Given the description of an element on the screen output the (x, y) to click on. 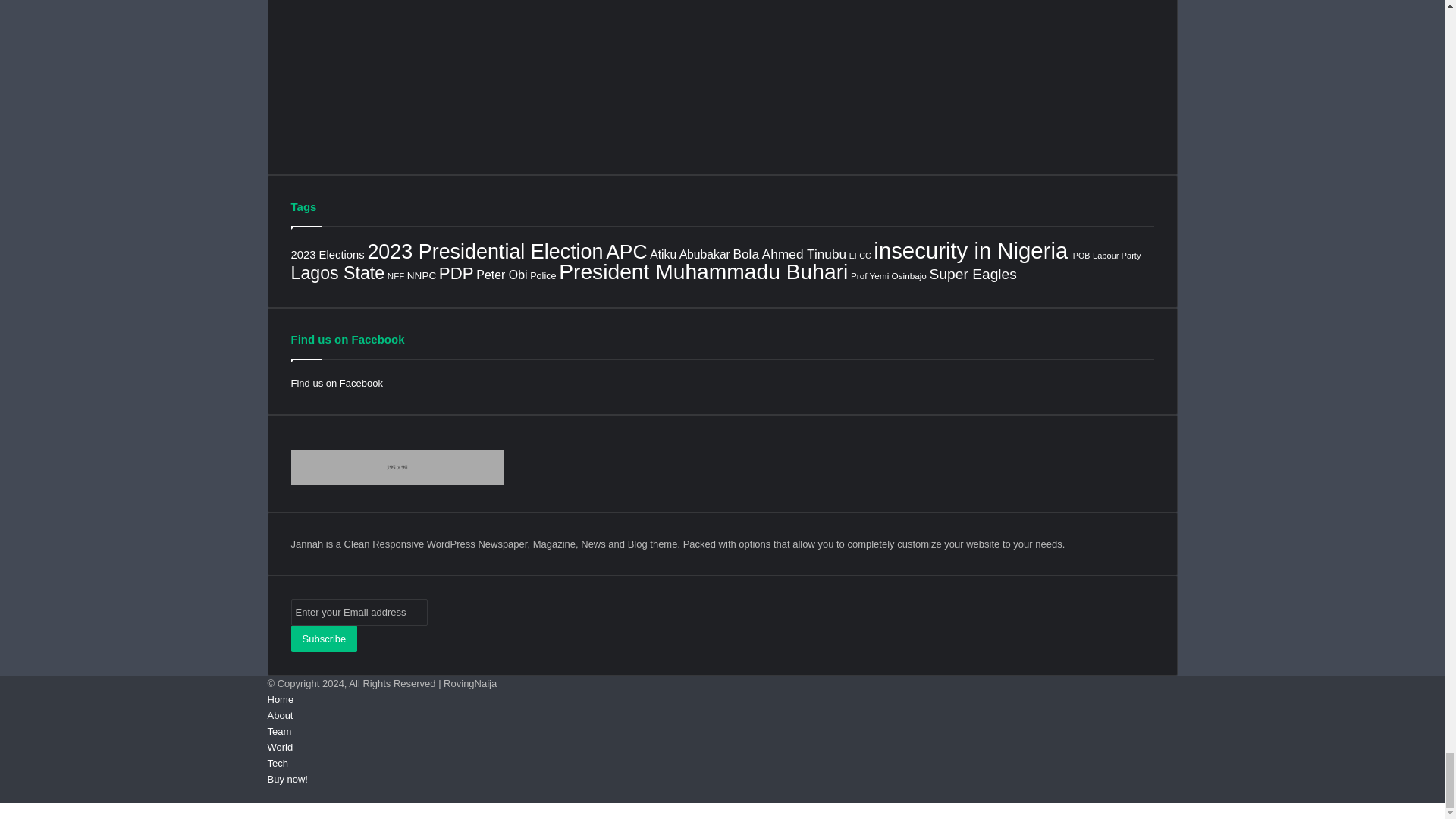
Subscribe (324, 638)
